Given the description of an element on the screen output the (x, y) to click on. 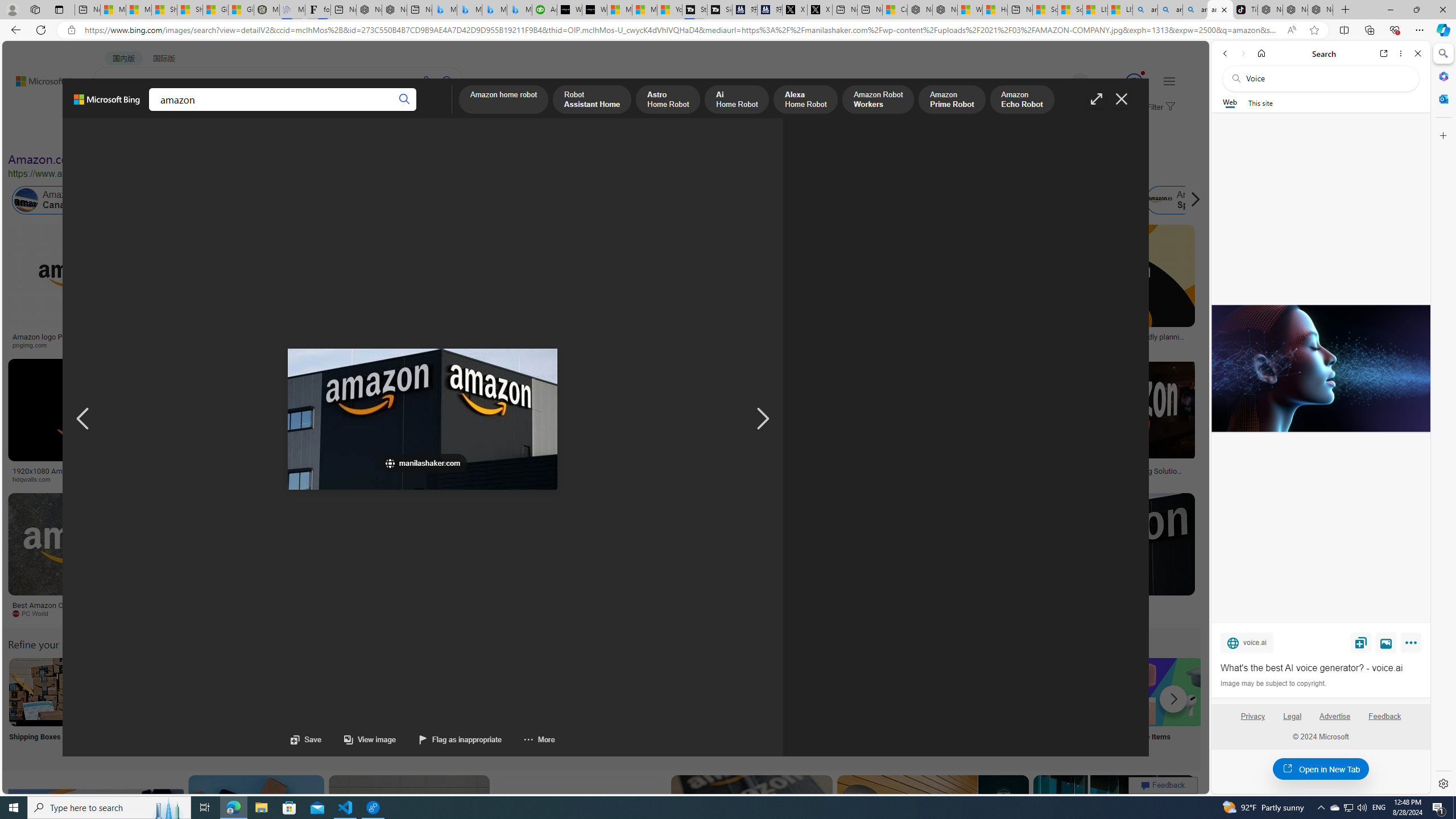
mobilemarketingmagazine.com (1099, 479)
protothema.gr (1105, 613)
Amazon Logo Png Hd Wallpaper | Images and Photos finder (559, 340)
Visa Card Login (1093, 706)
Wish List (568, 706)
Amazon Online Shopping Homepage (868, 691)
Filter (1158, 107)
Privacy (1252, 715)
Listen: What's next for Amazon?usatoday.comSave (406, 289)
